Given the description of an element on the screen output the (x, y) to click on. 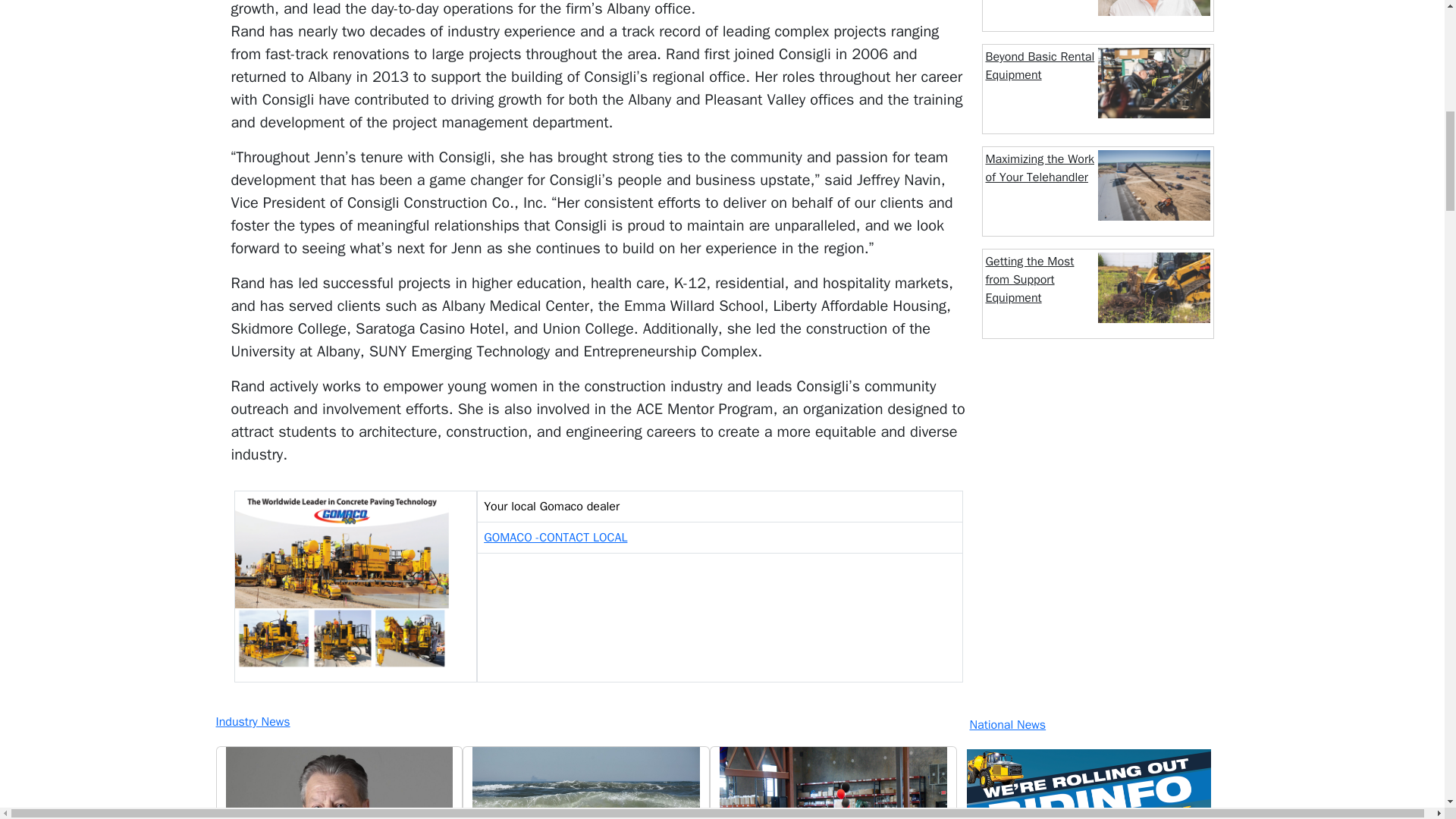
Industry News (584, 721)
Beyond Basic Rental Equipment (1039, 65)
Maximizing the Work of Your Telehandler (1039, 168)
GOMACO -CONTACT LOCAL (555, 537)
Getting the Most from Support Equipment (1029, 279)
